Given the description of an element on the screen output the (x, y) to click on. 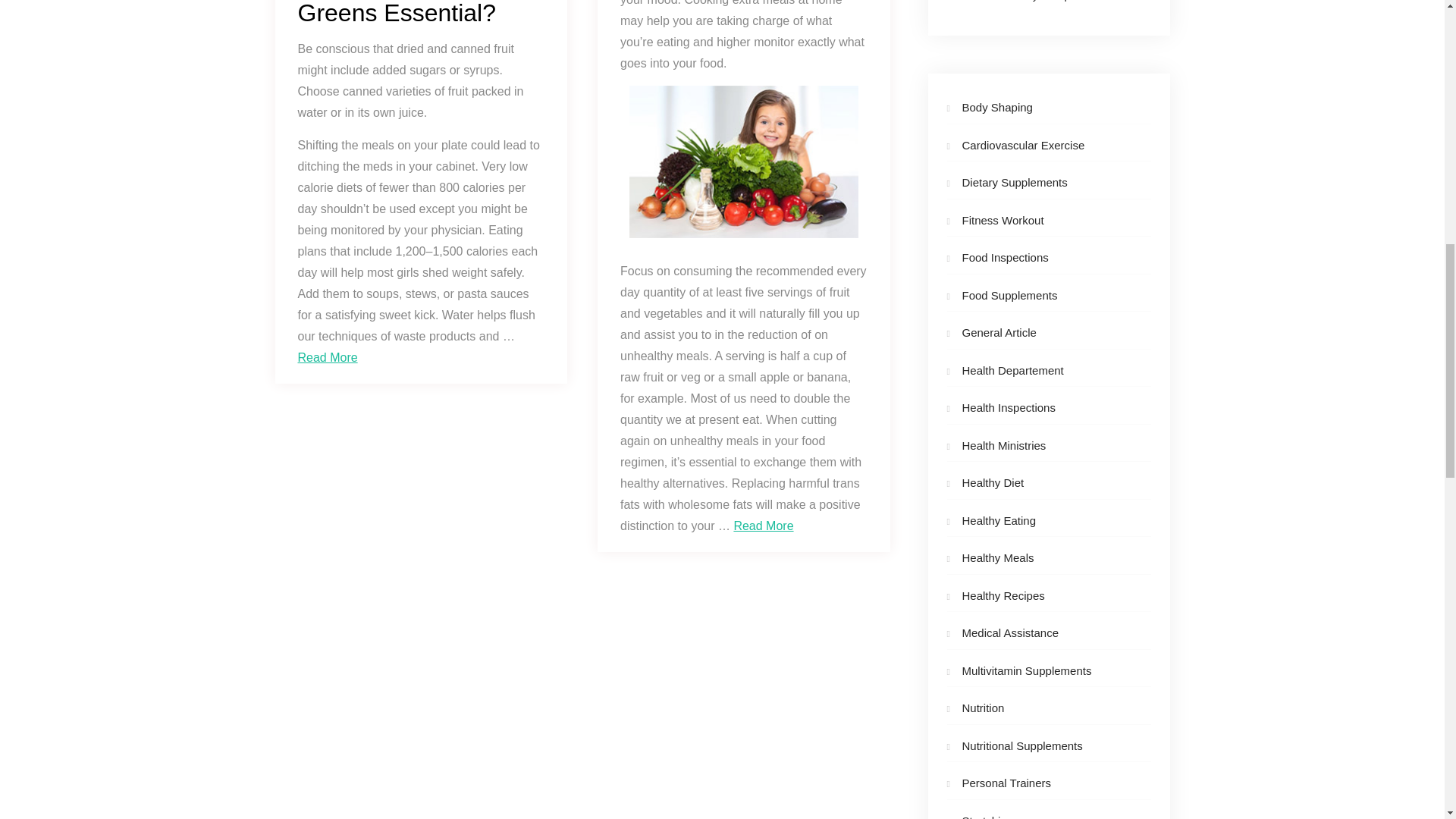
Read More (763, 525)
Dietary Supplements (1013, 182)
All Our Healthy Recipes (1020, 0)
Cardiovascular Exercise (1022, 144)
Food Supplements (1008, 295)
General Article (997, 332)
Read More (326, 357)
Body Shaping (996, 106)
Food Inspections (1004, 256)
Fitness Workout (1001, 219)
